Given the description of an element on the screen output the (x, y) to click on. 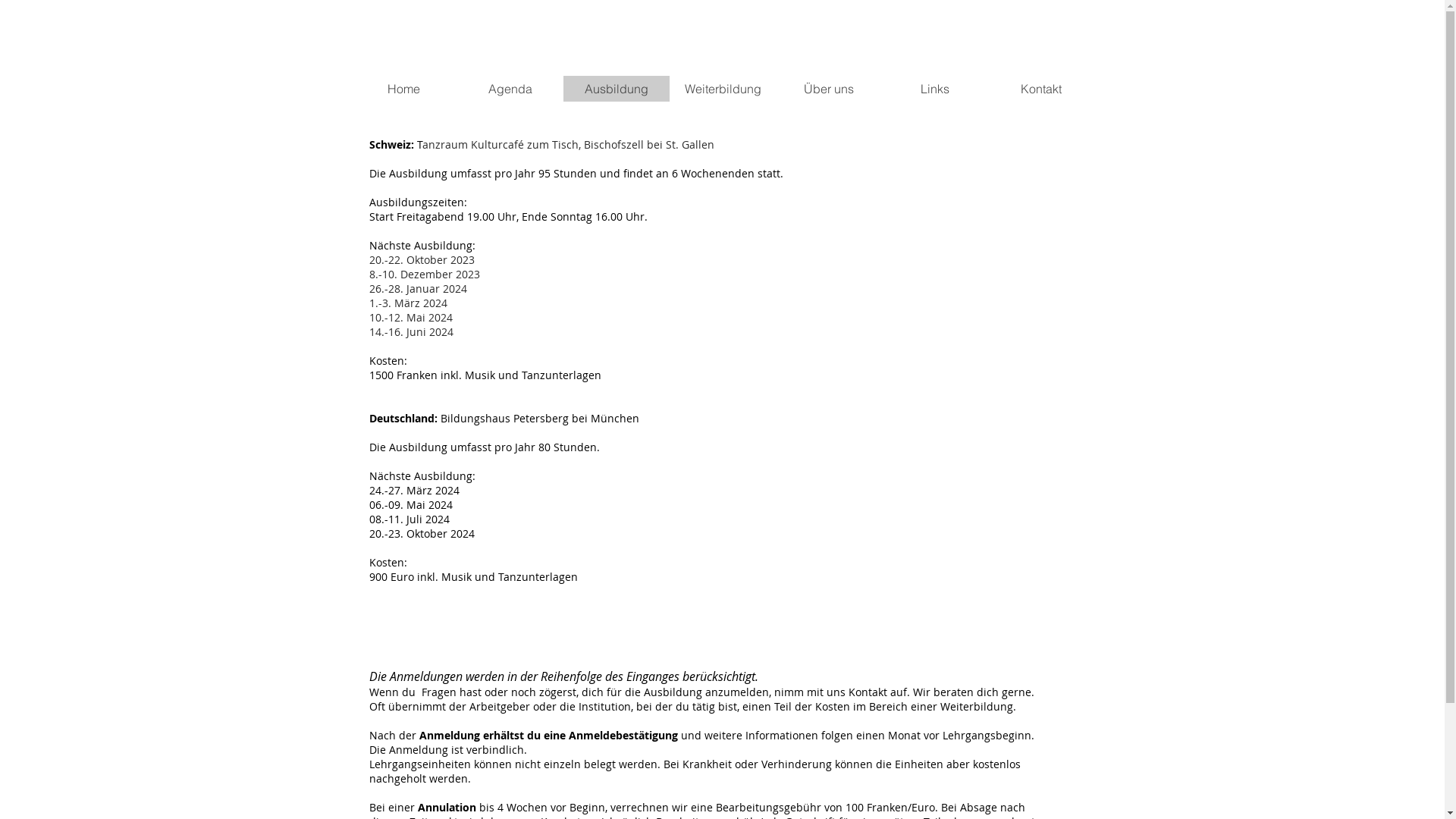
Agenda Element type: text (509, 88)
Ausbildung Element type: text (615, 88)
Links Element type: text (934, 88)
Weiterbildung Element type: text (721, 88)
Kontakt Element type: text (1040, 88)
Home Element type: text (403, 88)
